Given the description of an element on the screen output the (x, y) to click on. 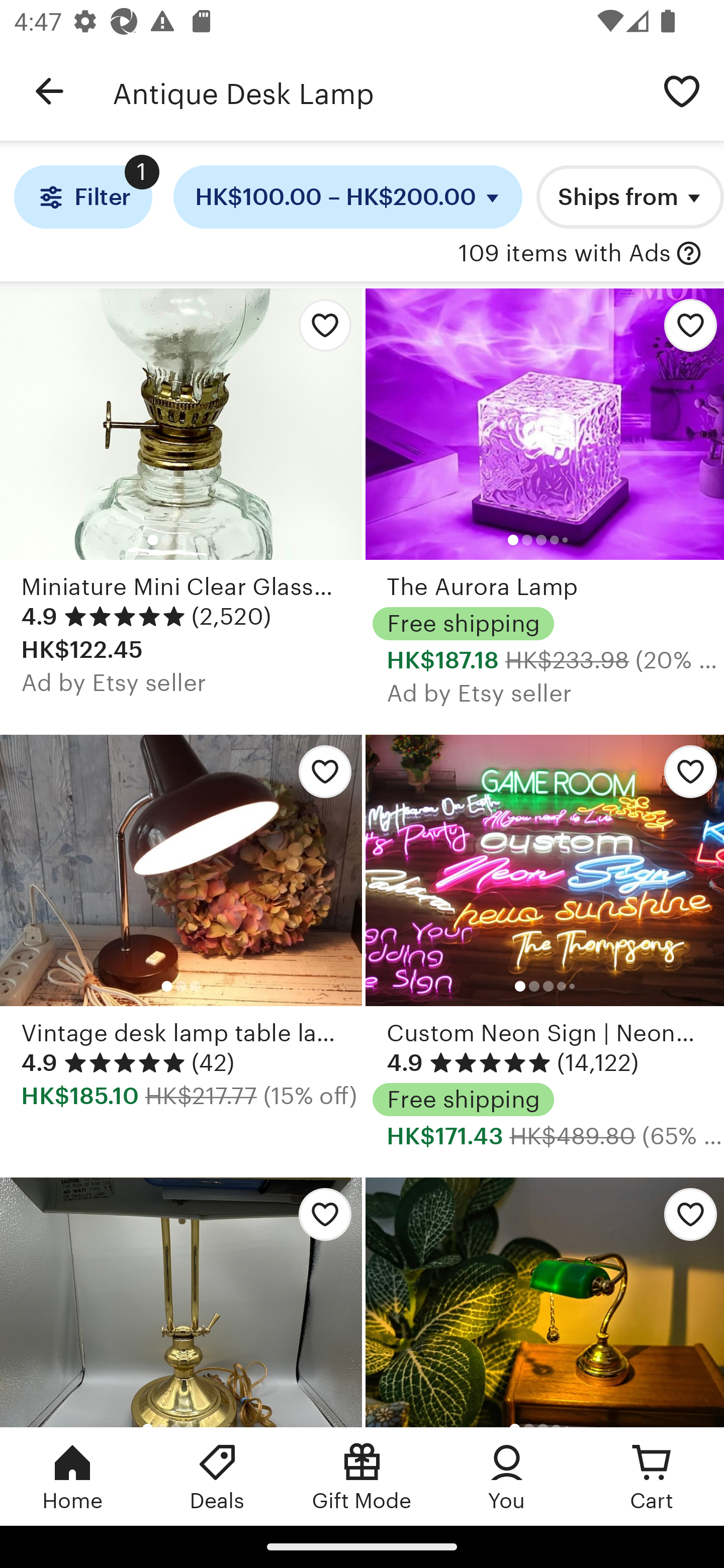
Navigate up (49, 91)
Save search (681, 90)
Antique Desk Lamp (375, 91)
Filter (82, 197)
HK$100.00 – HK$200.00 (347, 197)
Ships from (630, 197)
109 items with Ads (564, 253)
with Ads (688, 253)
Add The Aurora Lamp to favorites (683, 330)
Add Vintage desk lamp table lamp to favorites (319, 776)
Deals (216, 1475)
Gift Mode (361, 1475)
You (506, 1475)
Cart (651, 1475)
